Given the description of an element on the screen output the (x, y) to click on. 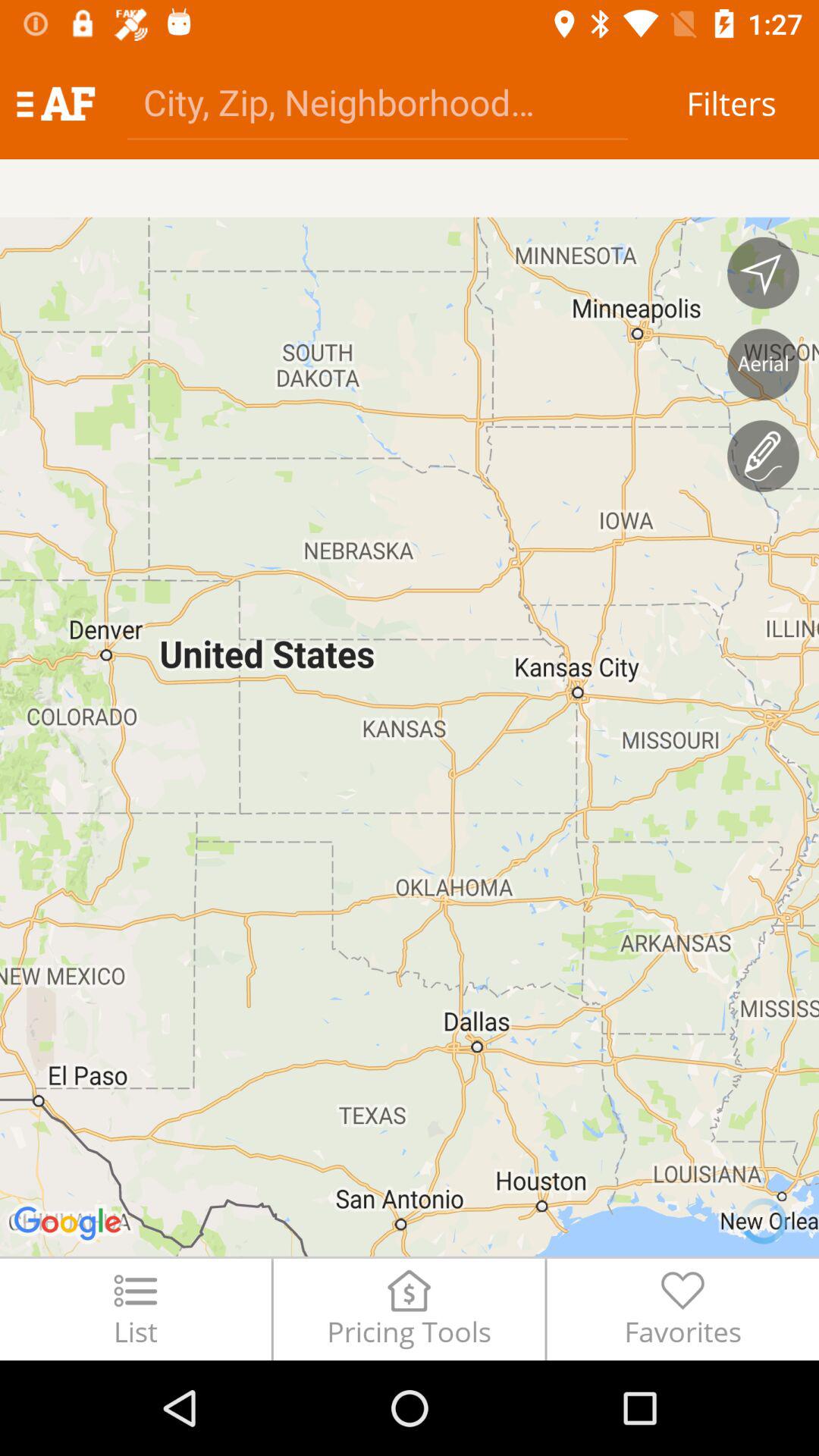
jump until the favorites item (683, 1309)
